Given the description of an element on the screen output the (x, y) to click on. 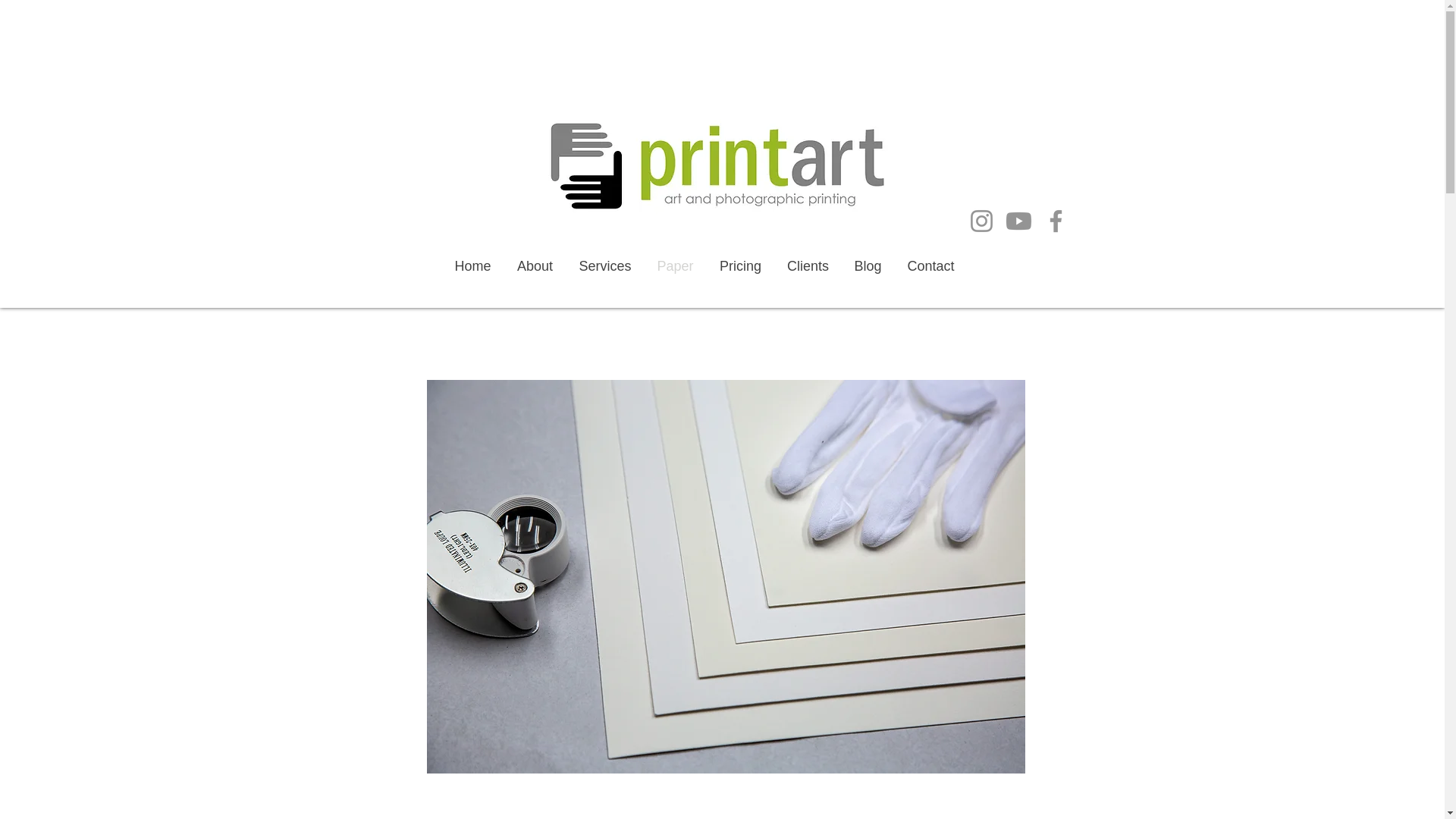
Pricing (740, 266)
About (534, 266)
Home (472, 266)
Paper (675, 266)
Blog (868, 266)
Services (604, 266)
Clients (807, 266)
Contact (931, 266)
